Given the description of an element on the screen output the (x, y) to click on. 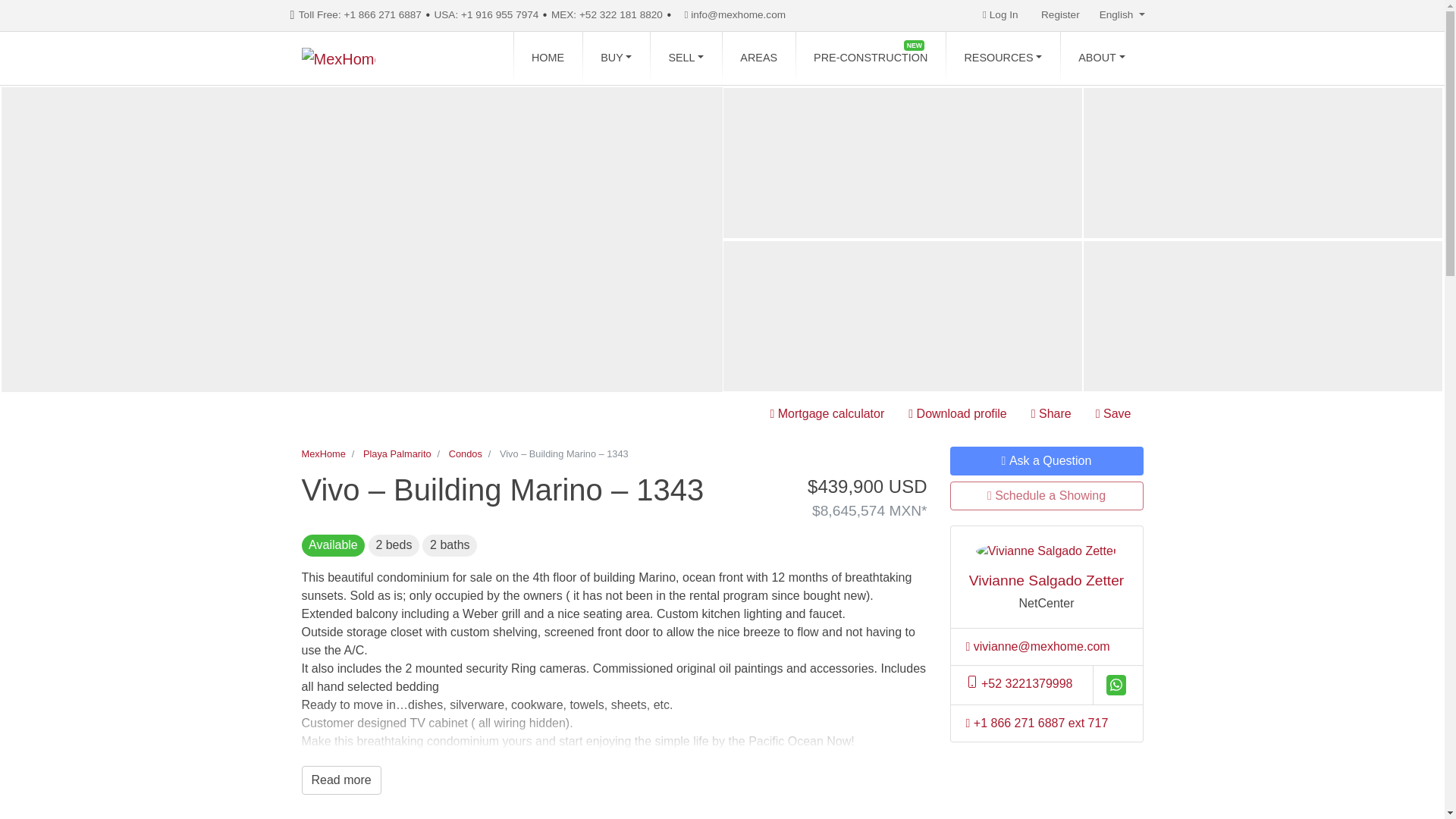
AREAS (758, 58)
ABOUT (1100, 58)
Home (547, 58)
English (1121, 15)
HOME (547, 58)
Pre-Construction New (869, 58)
BUY (615, 58)
Log In (999, 15)
Sell (685, 58)
